Given the description of an element on the screen output the (x, y) to click on. 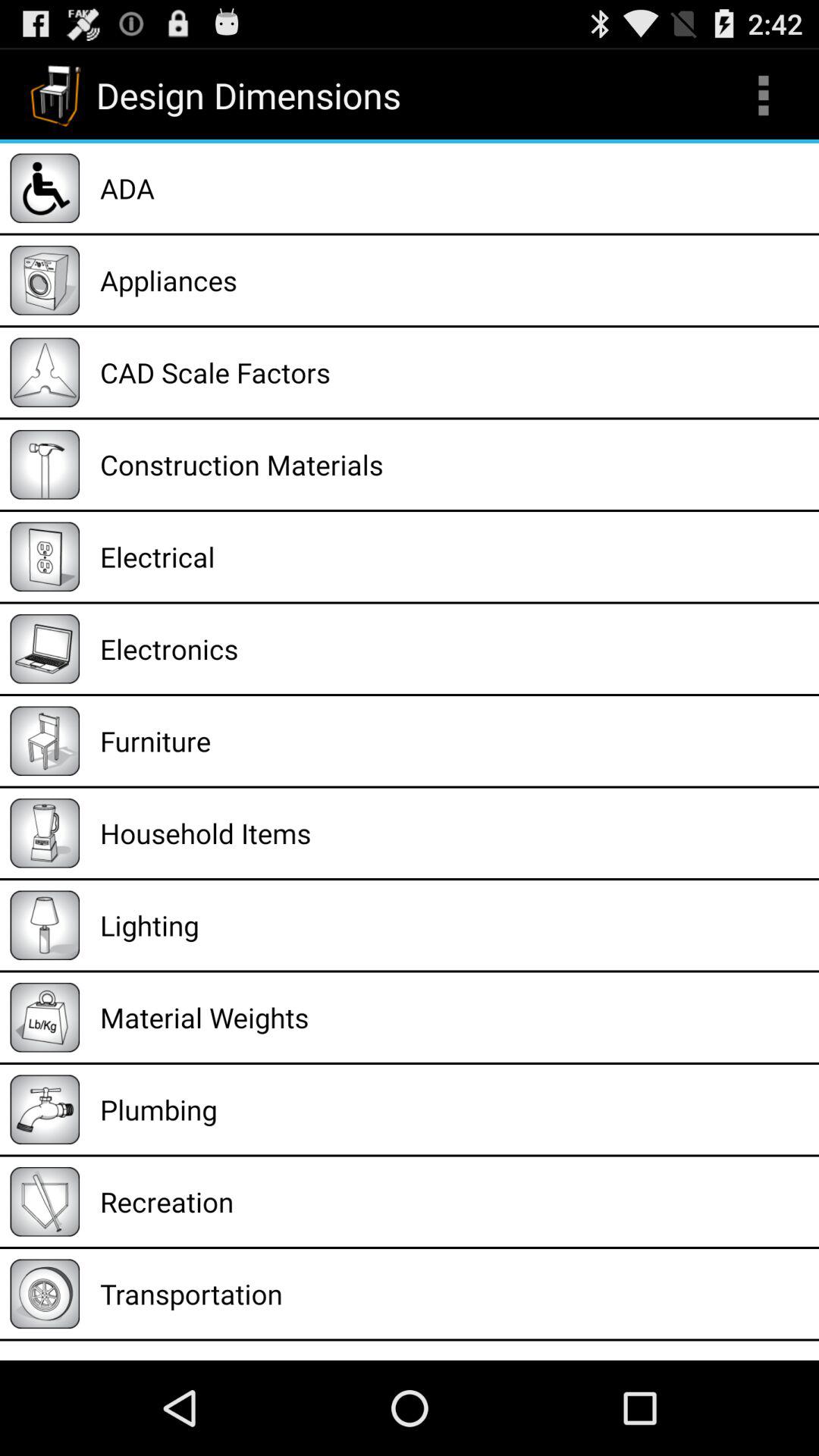
flip until the transportation icon (454, 1293)
